Given the description of an element on the screen output the (x, y) to click on. 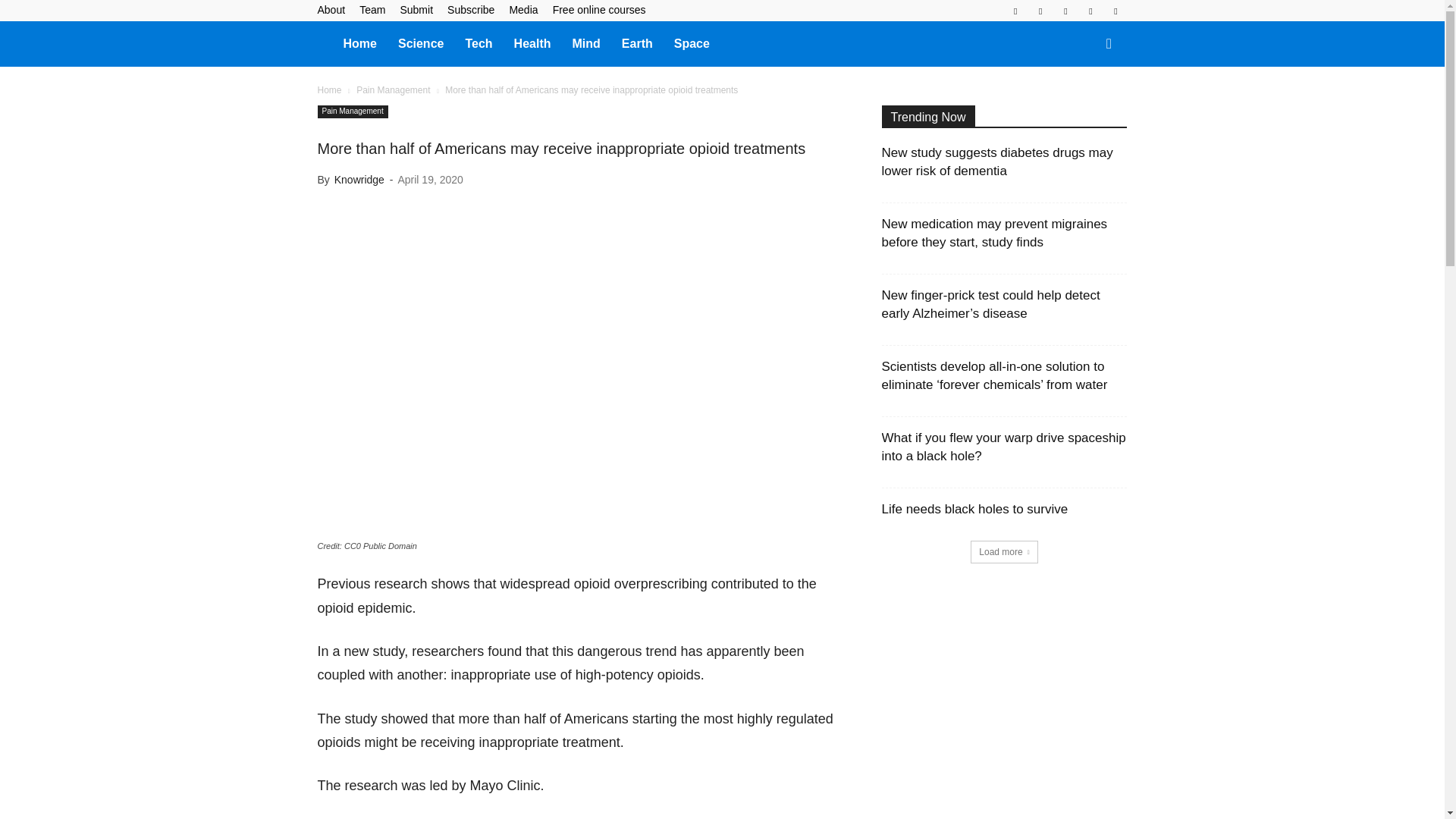
Media (522, 9)
RSS (1065, 10)
Linkedin (1040, 10)
Knowridge Science Report (324, 42)
Free online courses (599, 9)
Submit (415, 9)
About (331, 9)
Facebook (1015, 10)
Team (372, 9)
